Given the description of an element on the screen output the (x, y) to click on. 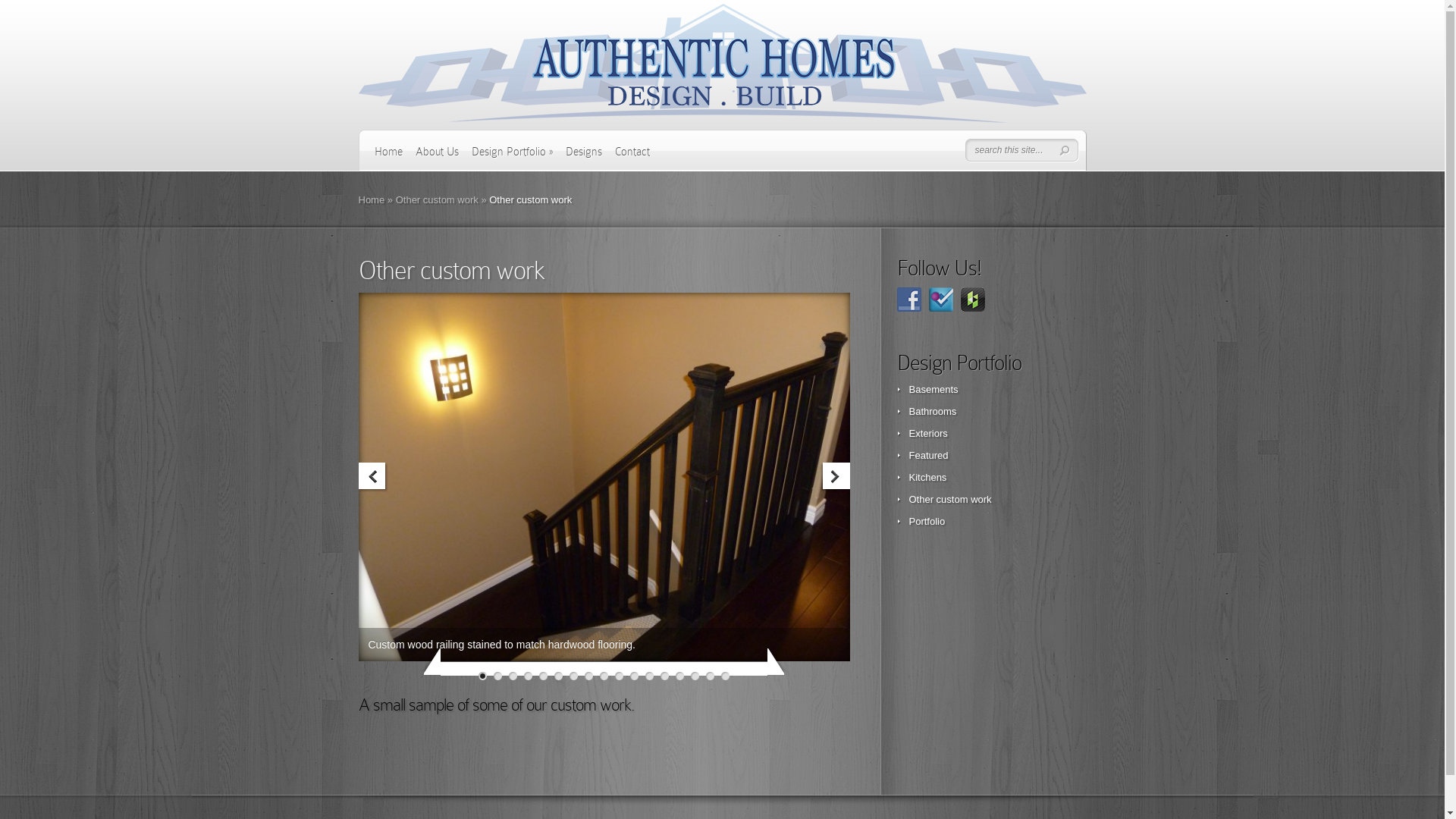
Previous Element type: text (372, 477)
About Us Element type: text (436, 156)
4 Element type: text (528, 675)
11 Element type: text (634, 675)
Basements Element type: text (932, 389)
Home Element type: text (388, 156)
Home Element type: text (370, 199)
Other custom work Element type: text (436, 199)
1 Element type: text (482, 675)
Follow Us on Facebook Element type: hover (908, 299)
Exteriors Element type: text (927, 433)
6 Element type: text (558, 675)
Follow Us on Houzz Element type: hover (972, 299)
5 Element type: text (543, 675)
8 Element type: text (588, 675)
Kitchens Element type: text (927, 477)
Bathrooms Element type: text (932, 411)
2 Element type: text (497, 675)
Designs Element type: text (583, 156)
14 Element type: text (679, 675)
15 Element type: text (694, 675)
10 Element type: text (619, 675)
9 Element type: text (603, 675)
Portfolio Element type: text (926, 521)
13 Element type: text (664, 675)
Contact Element type: text (631, 156)
3 Element type: text (512, 675)
Featured Element type: text (927, 455)
17 Element type: text (725, 675)
16 Element type: text (710, 675)
Other custom work Element type: text (949, 499)
7 Element type: text (573, 675)
12 Element type: text (649, 675)
Next Element type: text (835, 477)
Follow Us on Foursquare Element type: hover (940, 299)
